Given the description of an element on the screen output the (x, y) to click on. 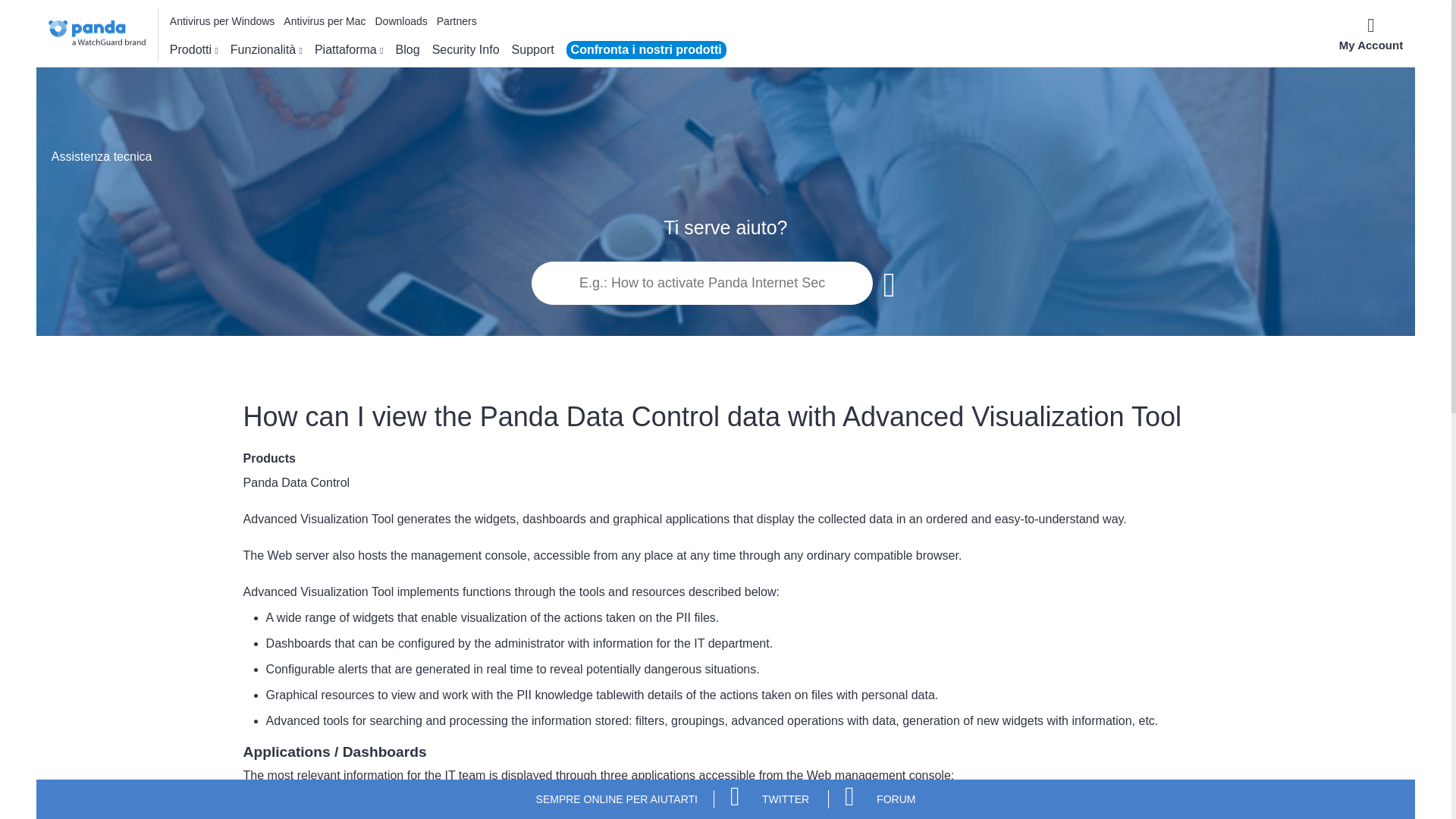
Antivirus per Windows (222, 21)
